Given the description of an element on the screen output the (x, y) to click on. 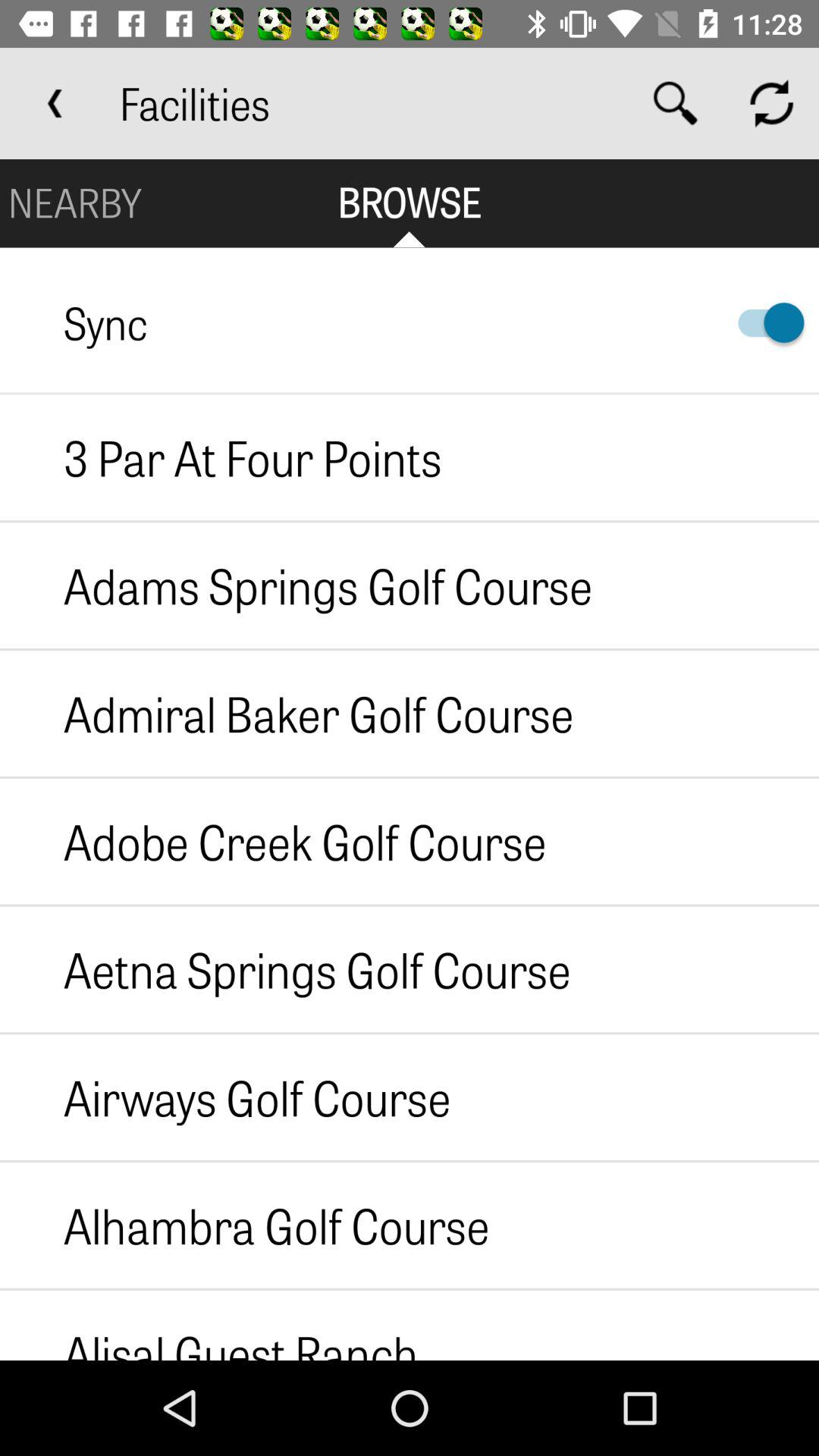
turn on the icon above aetna springs golf item (273, 841)
